Given the description of an element on the screen output the (x, y) to click on. 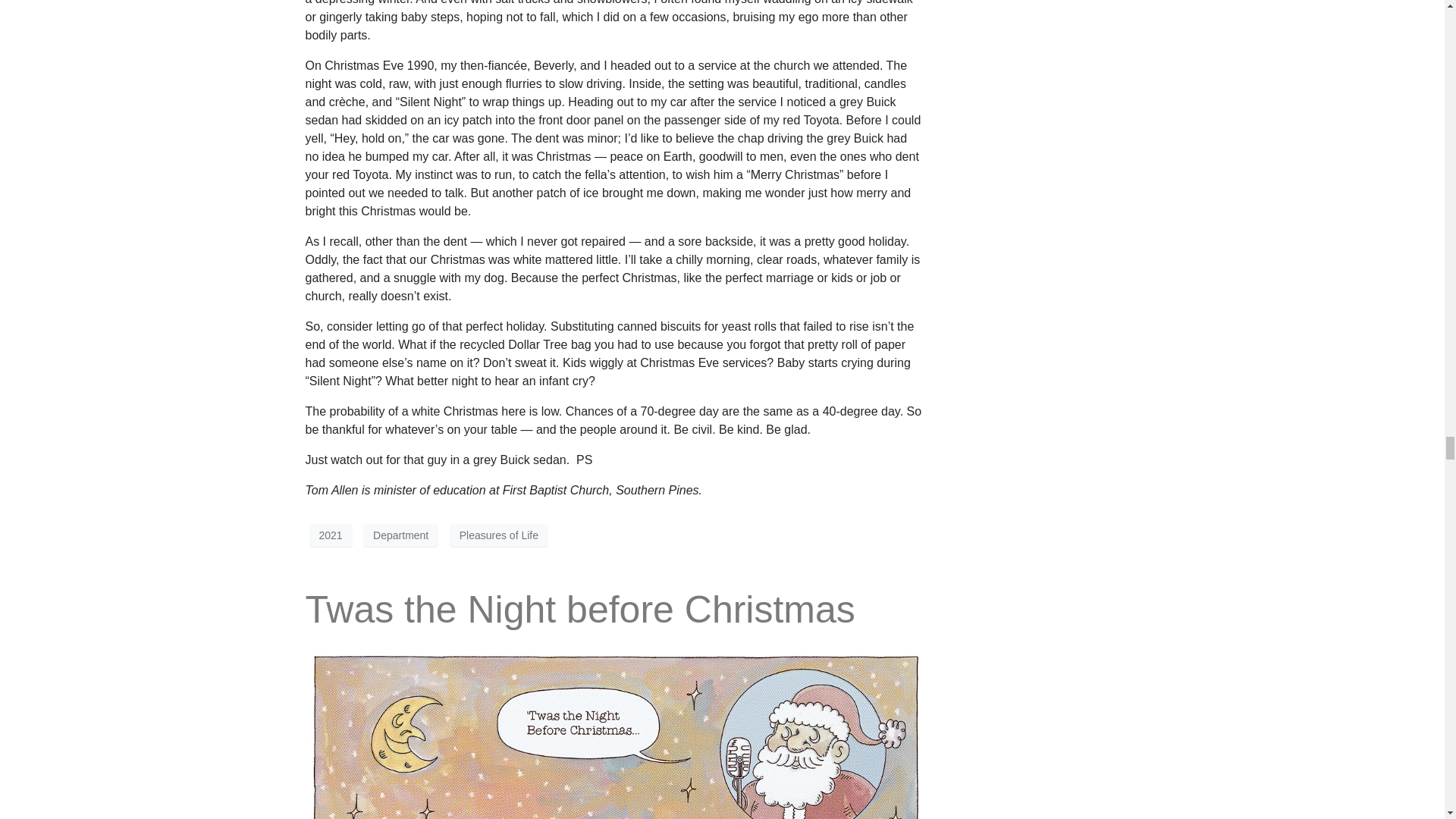
Twas the Night before Christmas (579, 609)
Twas the Night before Christmas (613, 784)
